Given the description of an element on the screen output the (x, y) to click on. 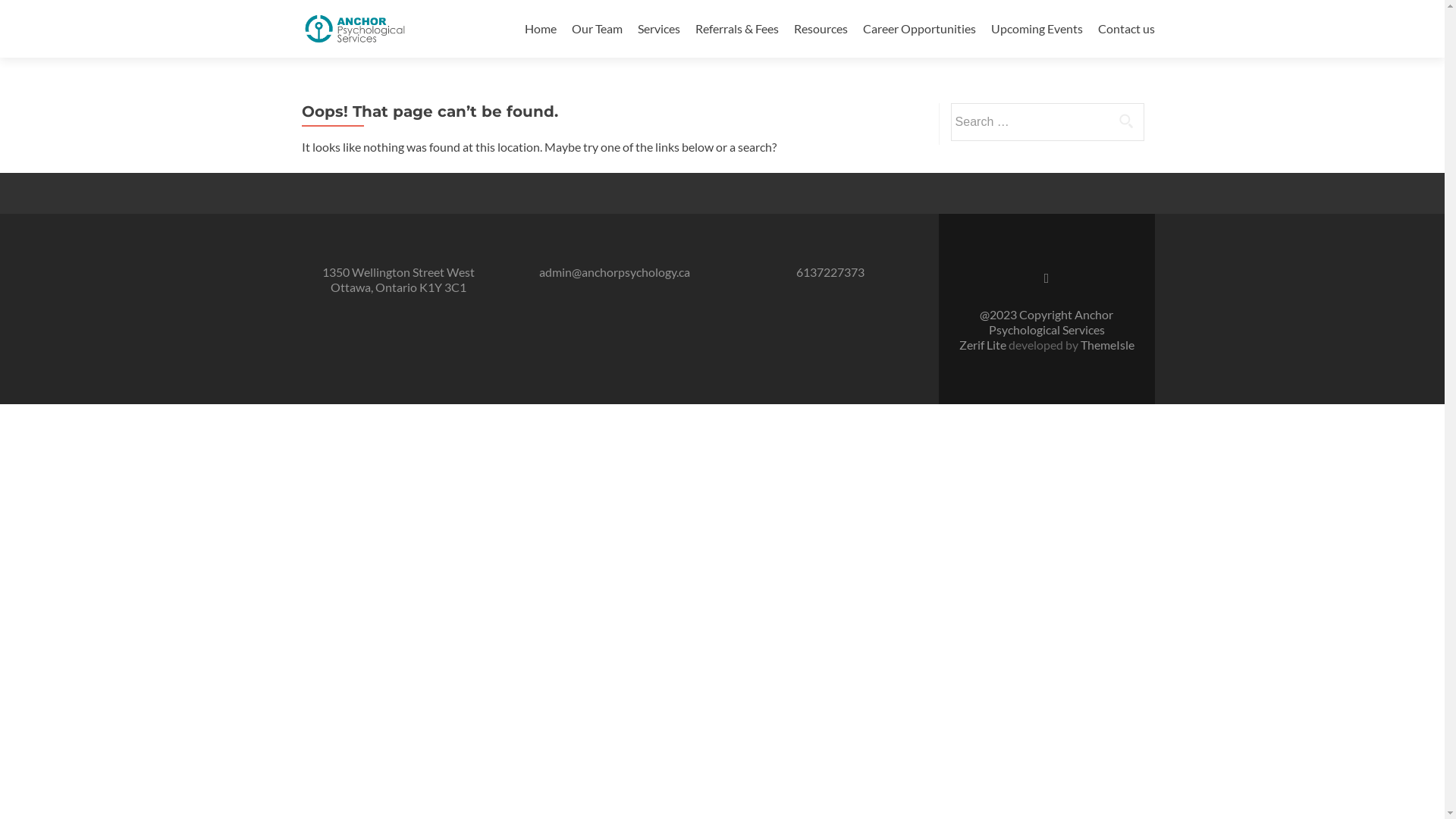
Home Element type: text (540, 28)
6137227373 Element type: text (830, 271)
admin@anchorpsychology.ca Element type: text (613, 271)
Skip to content Element type: text (563, 9)
Facebook link Element type: text (1046, 276)
Our Team Element type: text (596, 28)
ThemeIsle Element type: text (1106, 344)
Career Opportunities Element type: text (918, 28)
Upcoming Events Element type: text (1036, 28)
Services Element type: text (658, 28)
Search Element type: text (1125, 120)
Zerif Lite Element type: text (982, 344)
Contact us Element type: text (1126, 28)
Resources Element type: text (820, 28)
Referrals & Fees Element type: text (736, 28)
